Given the description of an element on the screen output the (x, y) to click on. 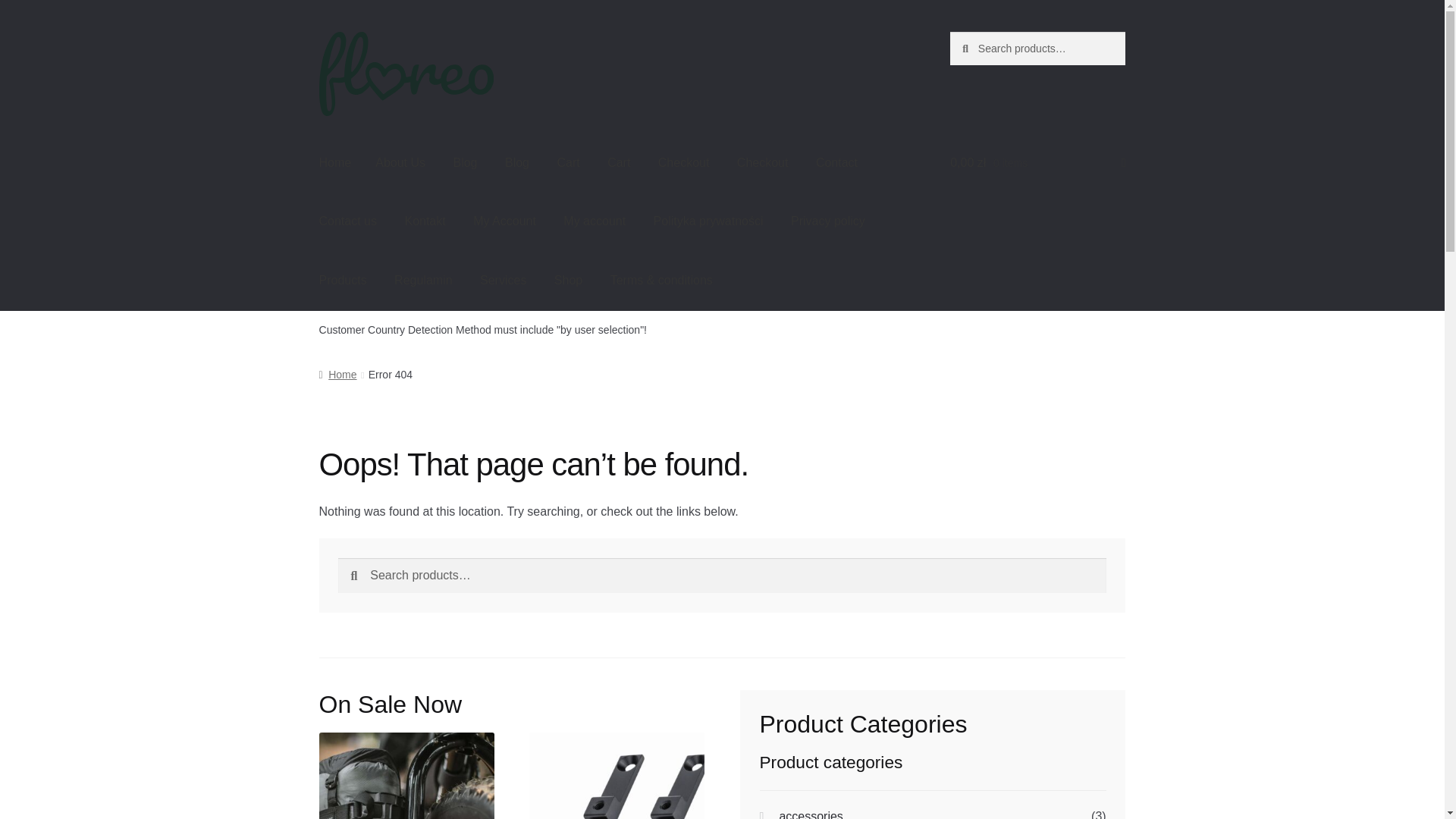
My Account (504, 220)
Kontakt (424, 220)
Services (502, 280)
Regulamin (422, 280)
Home (335, 162)
Checkout (684, 162)
Products (342, 280)
About Us (400, 162)
Checkout (762, 162)
Contact (836, 162)
My account (594, 220)
Privacy policy (827, 220)
View your shopping cart (1037, 162)
